Given the description of an element on the screen output the (x, y) to click on. 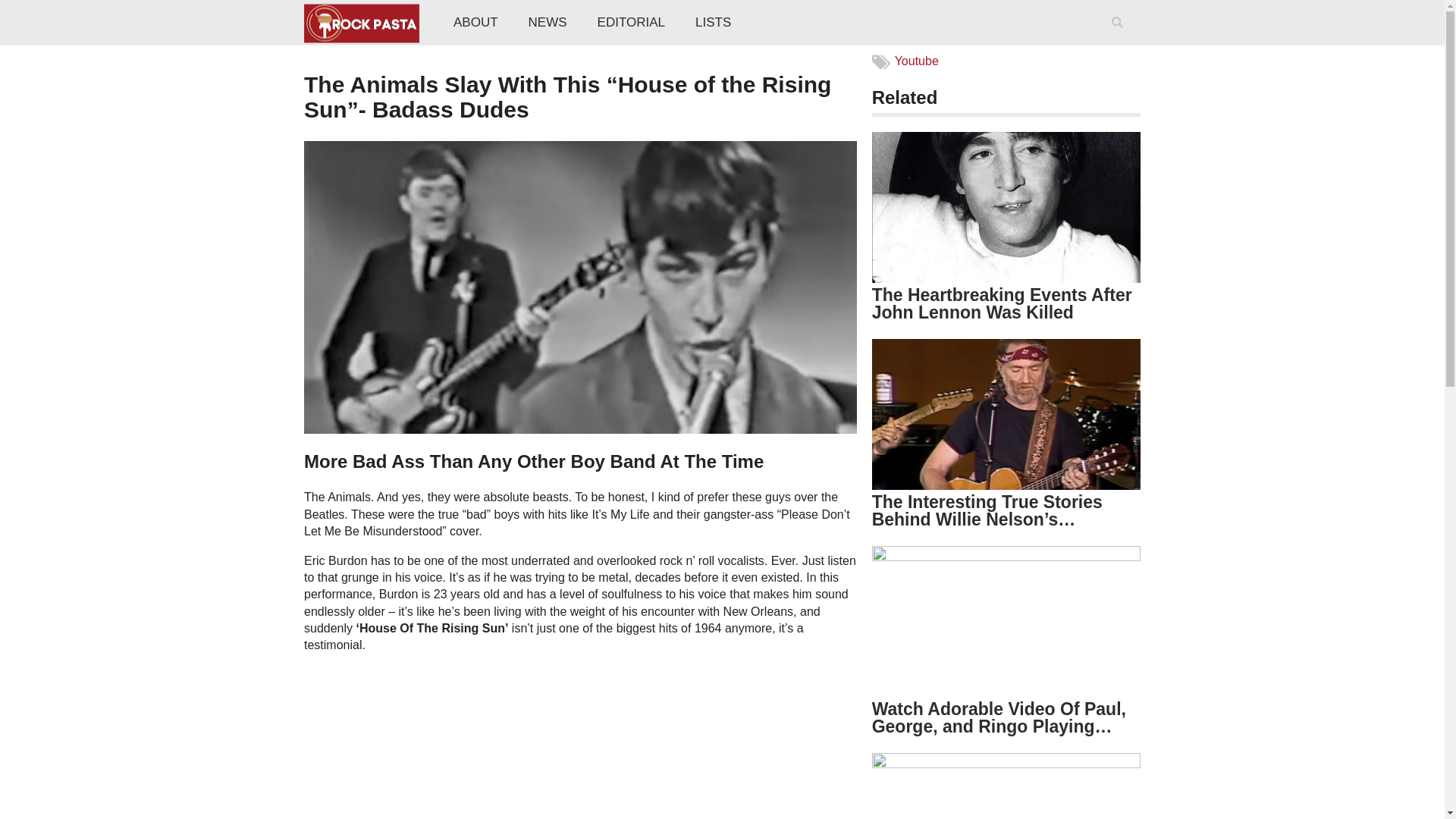
ABOUT (475, 22)
The Heartbreaking Events After John Lennon Was Killed (1002, 303)
NEWS (547, 22)
LISTS (712, 22)
Search (1120, 42)
Search (1120, 42)
Youtube (917, 60)
Search (1120, 42)
EDITORIAL (630, 22)
